Given the description of an element on the screen output the (x, y) to click on. 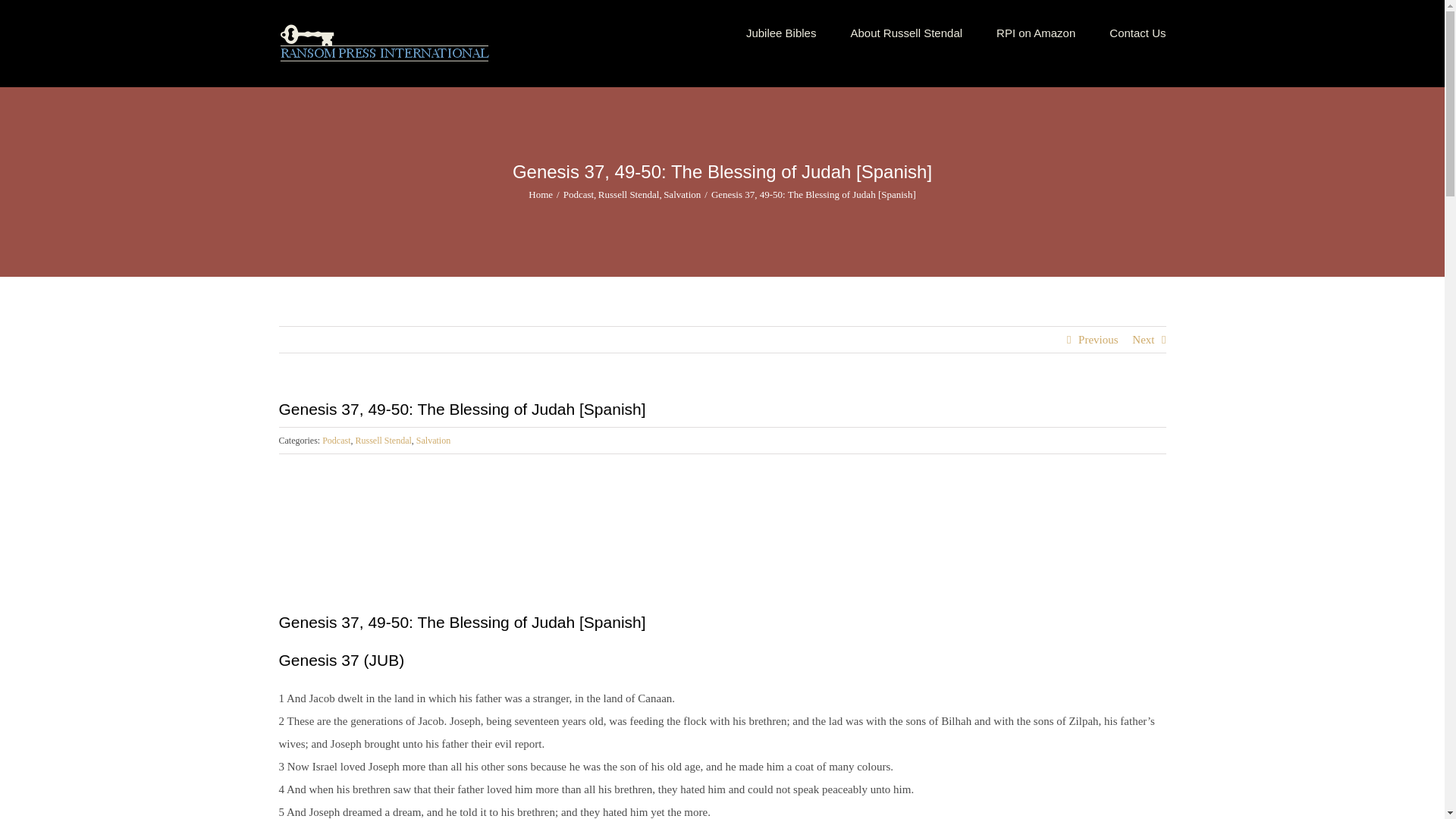
Home (540, 194)
Salvation (681, 194)
RPI on Amazon (1035, 31)
Podcast (335, 439)
Jubilee Bibles (780, 31)
Previous (1098, 339)
Russell Stendal (382, 439)
Salvation (432, 439)
Podcast (578, 194)
About Russell Stendal (906, 31)
Russell Stendal (628, 194)
